Given the description of an element on the screen output the (x, y) to click on. 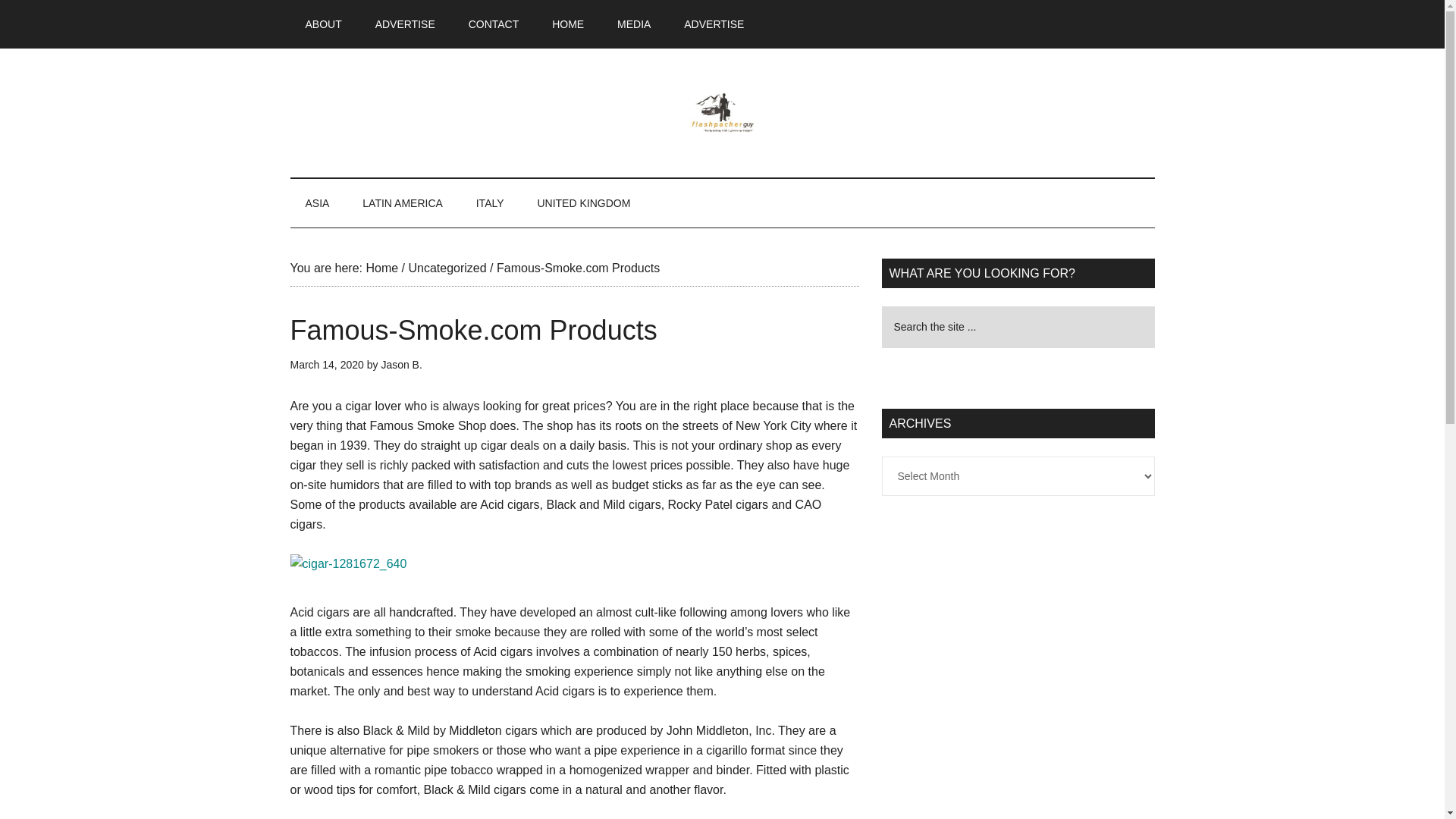
Home (381, 267)
ITALY (490, 203)
HOME (567, 24)
ABOUT (322, 24)
Uncategorized (446, 267)
ASIA (316, 203)
LATIN AMERICA (402, 203)
ADVERTISE (713, 24)
Flashpacker Guy (721, 112)
UNITED KINGDOM (583, 203)
ADVERTISE (404, 24)
